Given the description of an element on the screen output the (x, y) to click on. 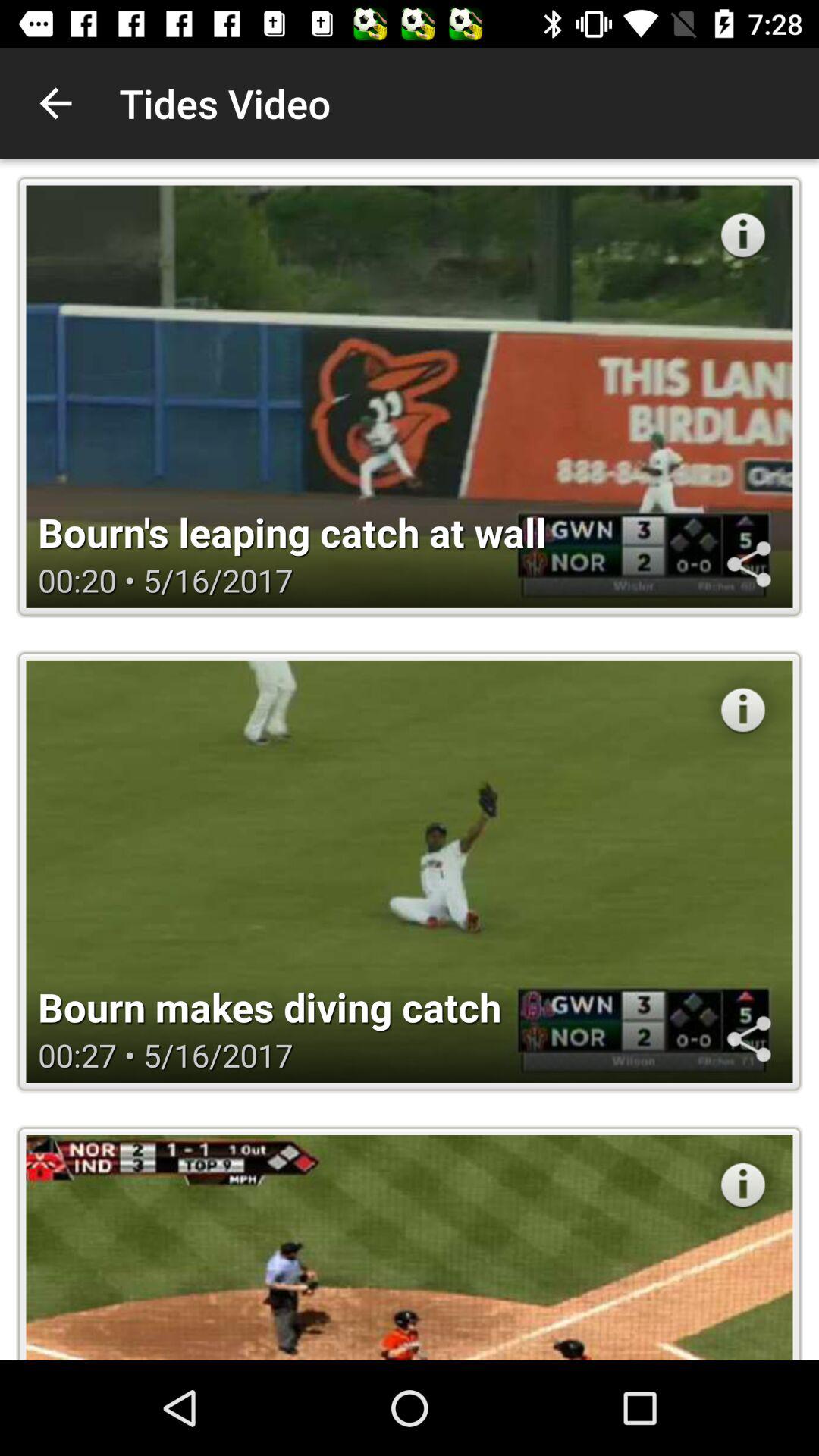
display video information (742, 709)
